Given the description of an element on the screen output the (x, y) to click on. 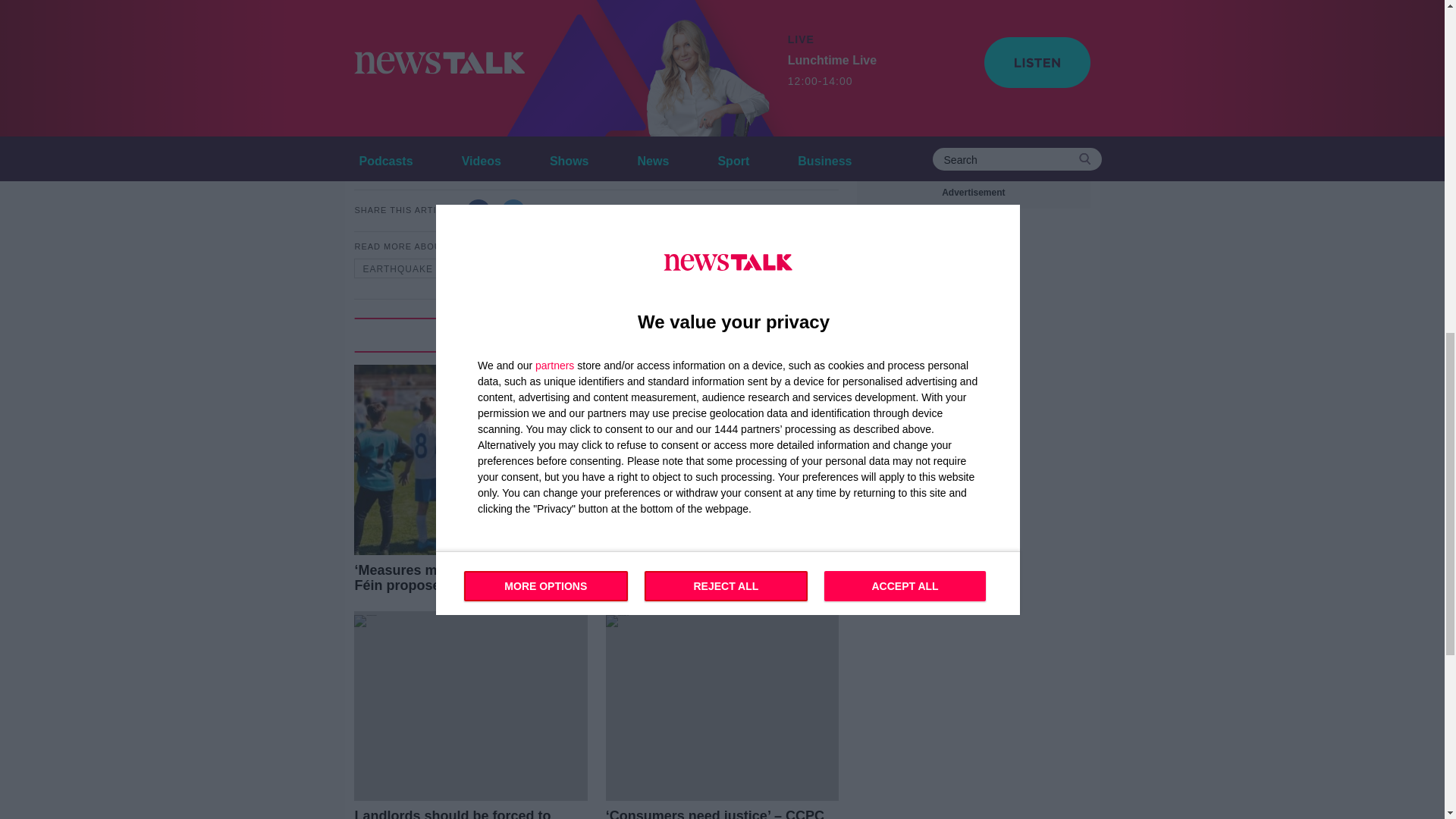
EARTHQUAKE (397, 268)
TURKEY (688, 268)
SYRIA (620, 268)
NATURAL DISASTERS (518, 268)
